Given the description of an element on the screen output the (x, y) to click on. 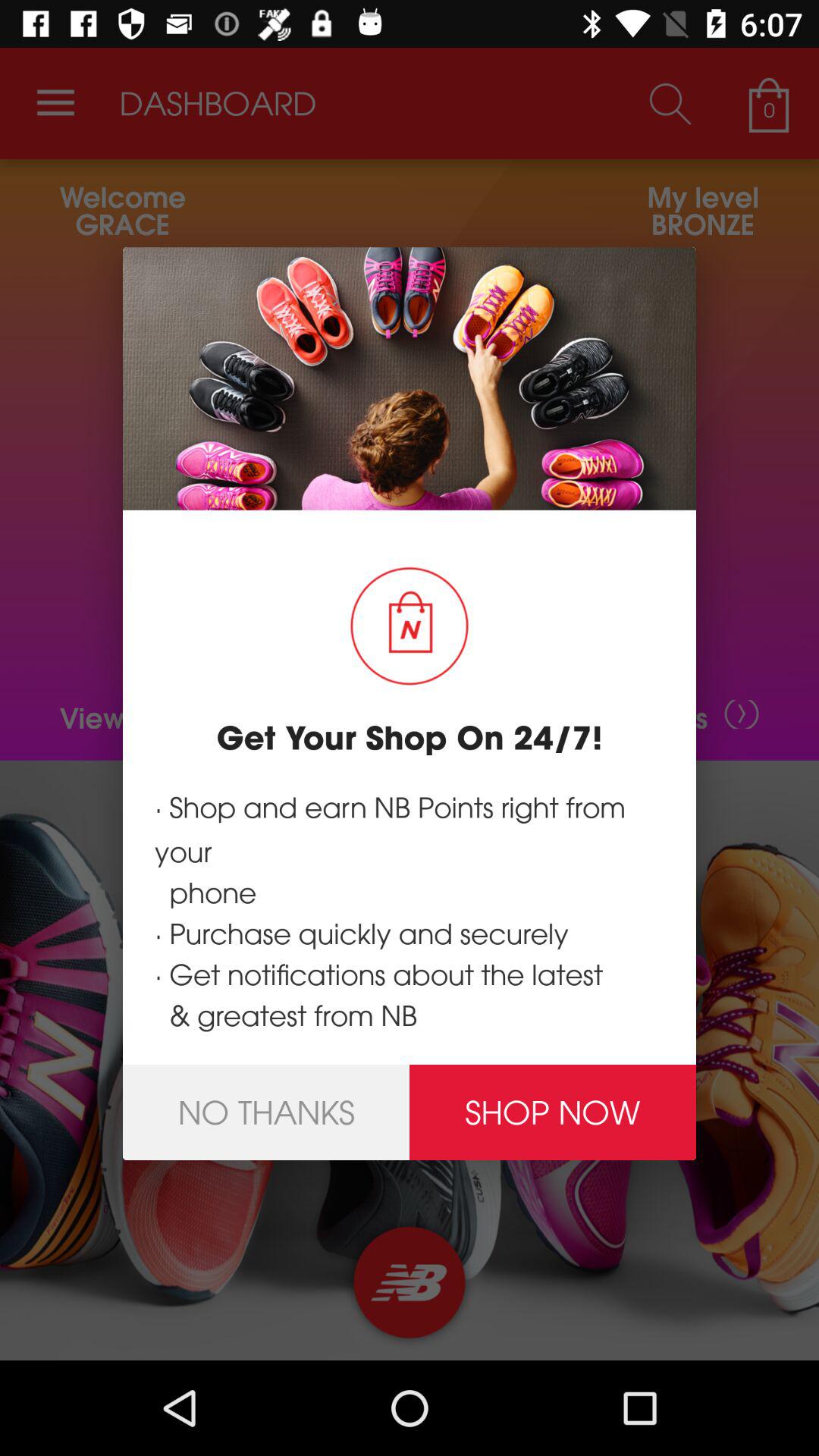
launch the shop now at the bottom right corner (552, 1112)
